Given the description of an element on the screen output the (x, y) to click on. 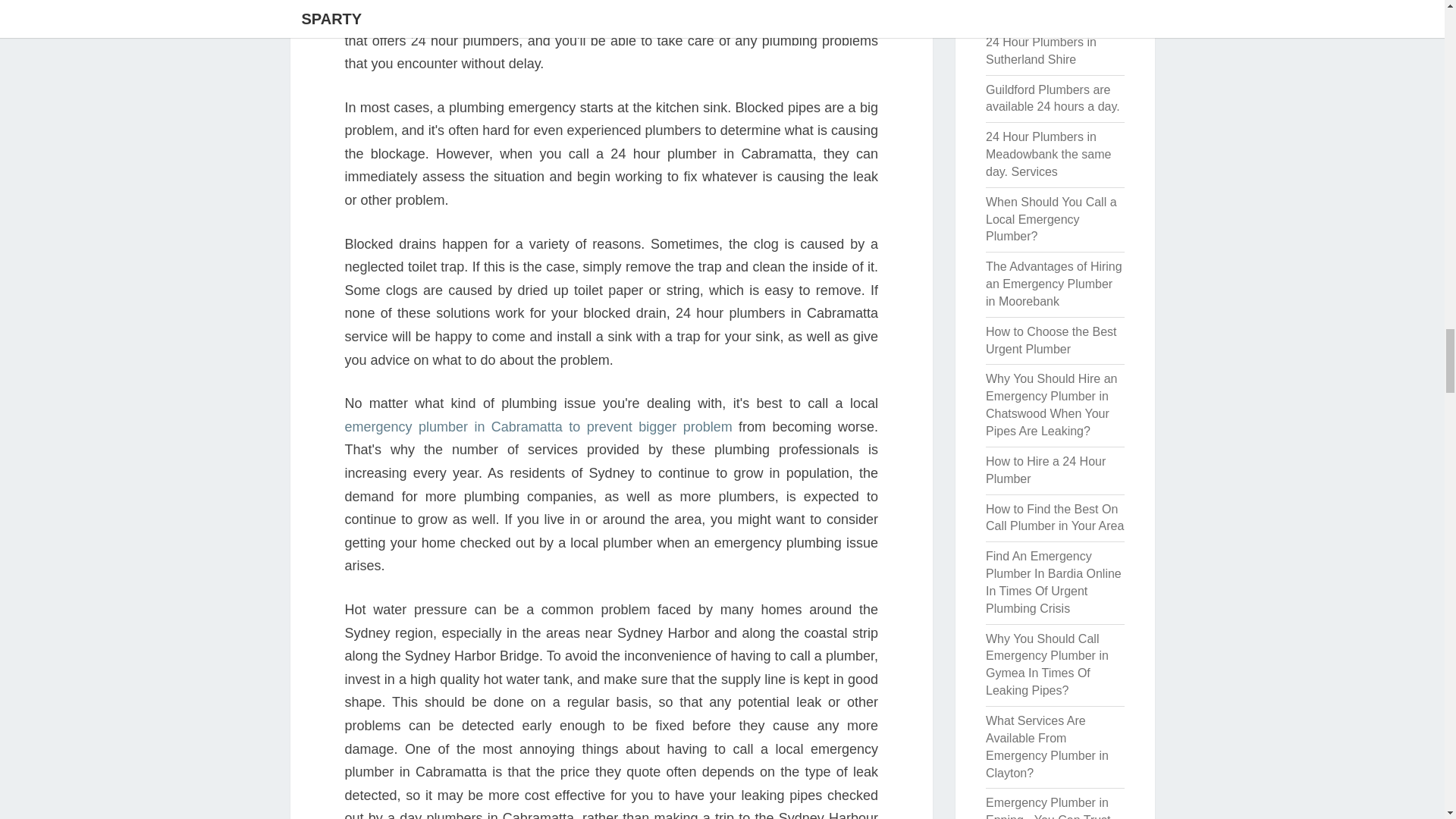
emergency plumber in Cabramatta to prevent bigger problem (537, 426)
